Given the description of an element on the screen output the (x, y) to click on. 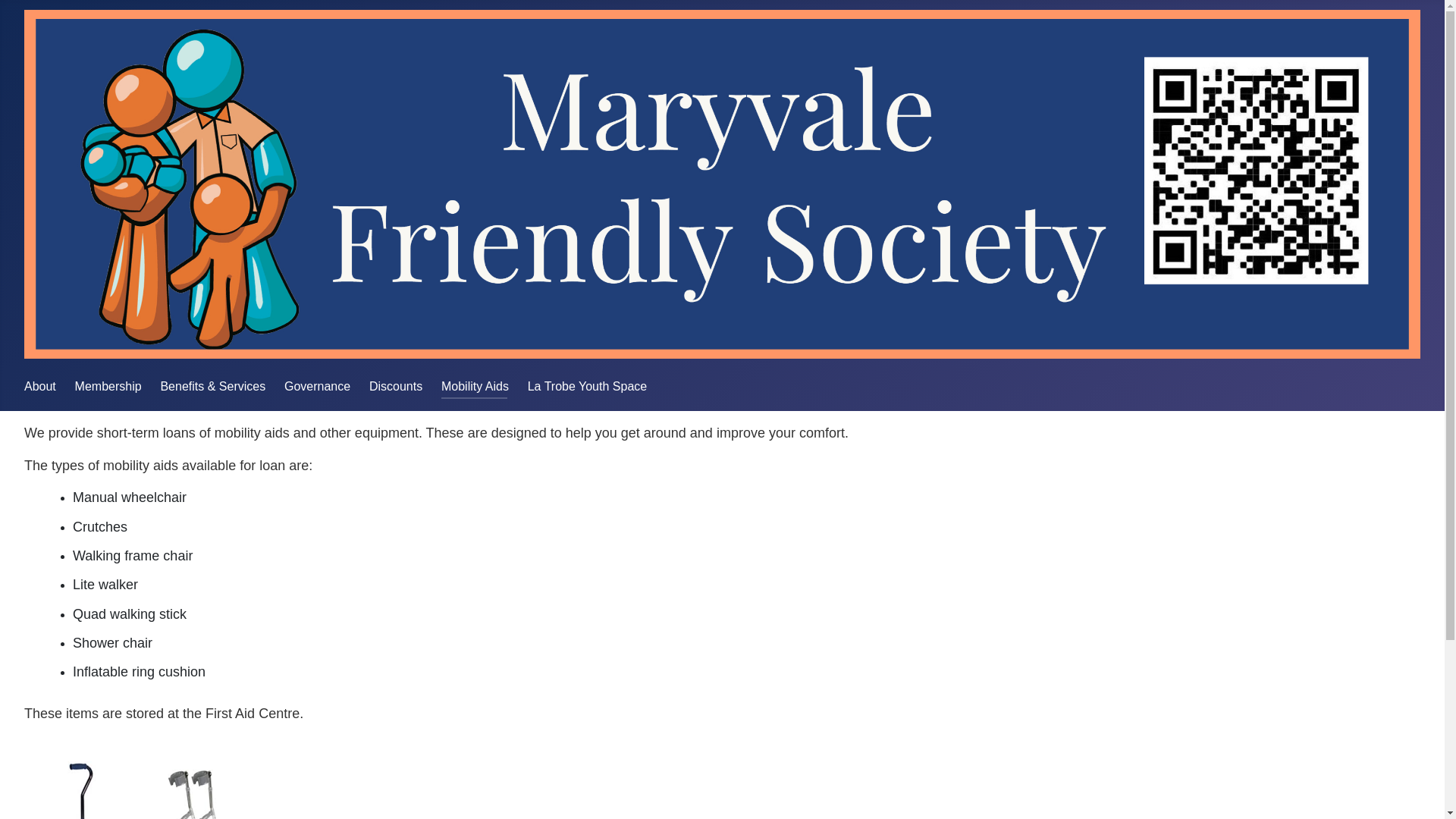
About Element type: text (40, 385)
Governance Element type: text (317, 385)
Mobility Aids Element type: text (474, 385)
La Trobe Youth Space Element type: text (586, 385)
Discounts Element type: text (395, 385)
Membership Element type: text (108, 385)
Benefits & Services Element type: text (212, 385)
